Given the description of an element on the screen output the (x, y) to click on. 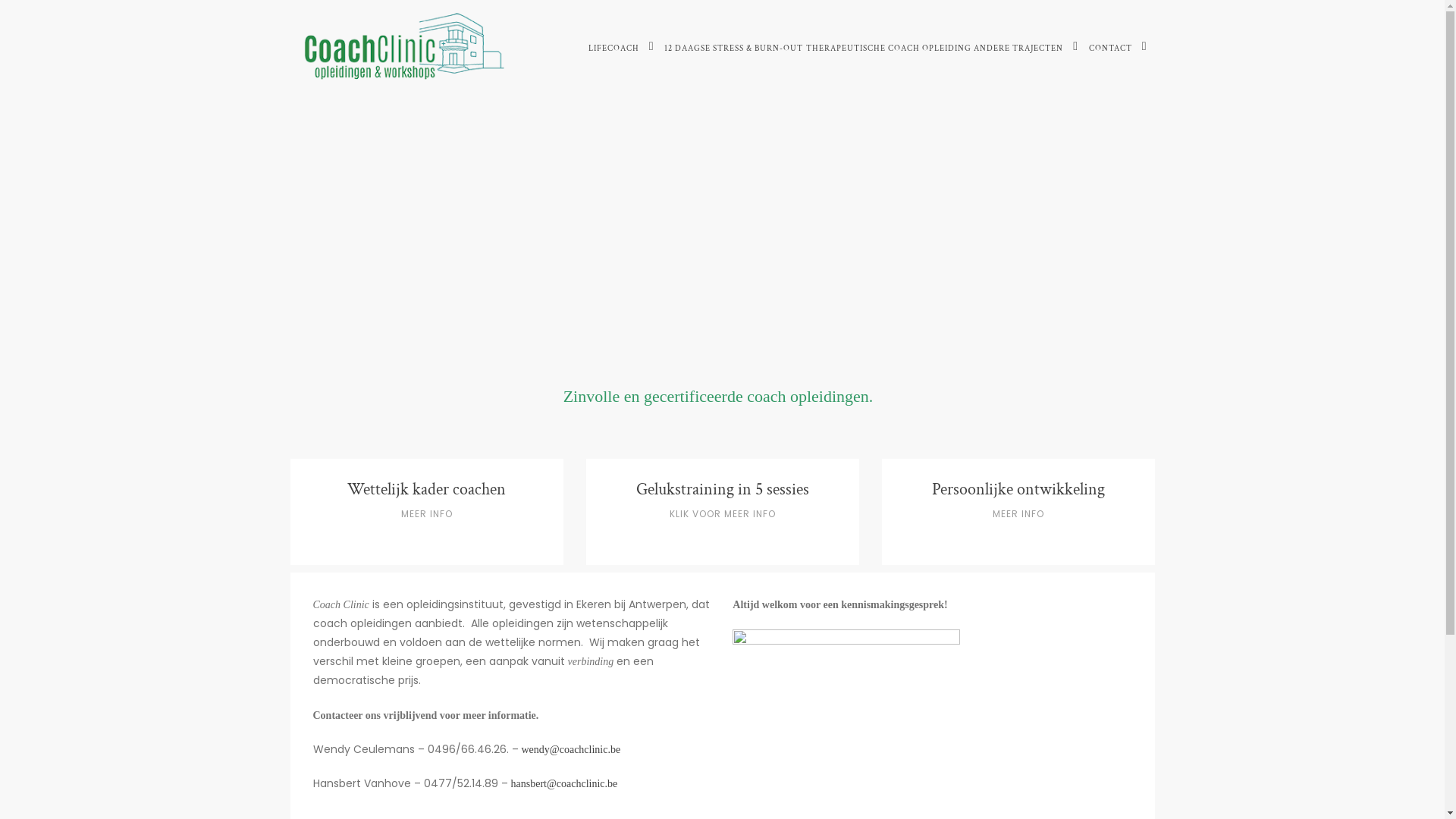
Skip to content Element type: text (0, 0)
Gelukstraining in 5 sessies
KLIK VOOR MEER INFO Element type: text (721, 511)
CONTACT Element type: text (1110, 48)
hansbert@coachclinic.be Element type: text (564, 783)
THERAPEUTISCHE COACH OPLEIDING Element type: text (887, 48)
ANDERE TRAJECTEN Element type: text (1018, 48)
LIFECOACH Element type: text (613, 48)
12 DAAGSE STRESS & BURN-OUT Element type: text (733, 48)
Wettelijk kader coachen
MEER INFO Element type: text (425, 511)
wendy@coachclinic.be Element type: text (571, 749)
Persoonlijke ontwikkeling
MEER INFO Element type: text (1017, 511)
